Given the description of an element on the screen output the (x, y) to click on. 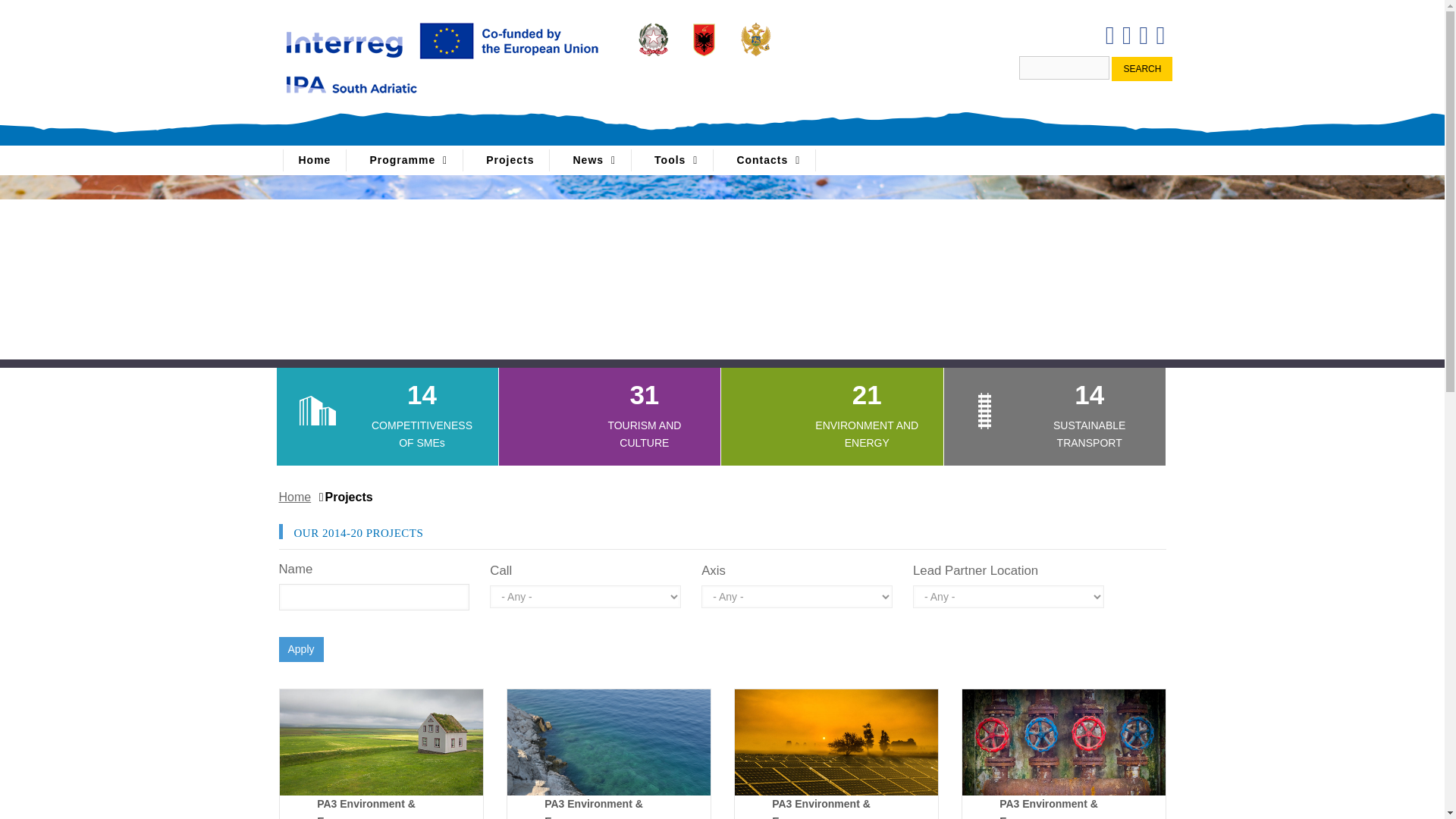
Home (297, 496)
Symbol that indicates Italy as a partner in the program (652, 39)
Return Interreg Principal Page (442, 54)
Search (1142, 68)
Integrated Water Management System in crossborder area (1062, 742)
Apply (301, 649)
Enter the terms you wish to search for. (1064, 67)
Contacts (767, 160)
Projects (510, 160)
Agricultural WastE as Sustainable (380, 742)
News (594, 160)
Tools (676, 160)
Search (1142, 68)
Protection coastal environment and water landscapes (608, 742)
Home (314, 160)
